Given the description of an element on the screen output the (x, y) to click on. 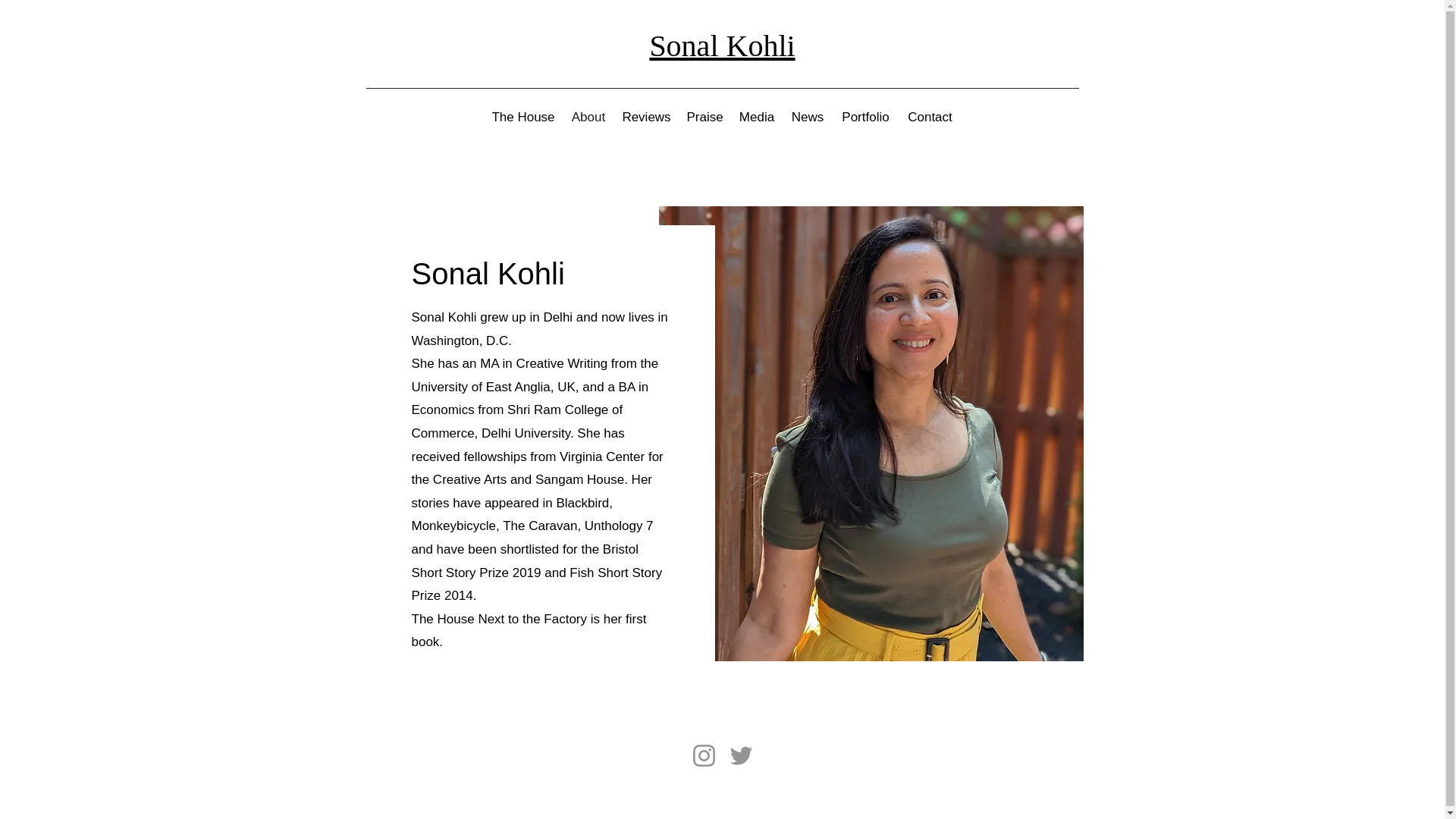
About (587, 117)
The House (523, 117)
Reviews (646, 117)
Media (756, 117)
Sonal Kohli (721, 45)
Praise (704, 117)
Portfolio (865, 117)
Contact (929, 117)
News (807, 117)
